Given the description of an element on the screen output the (x, y) to click on. 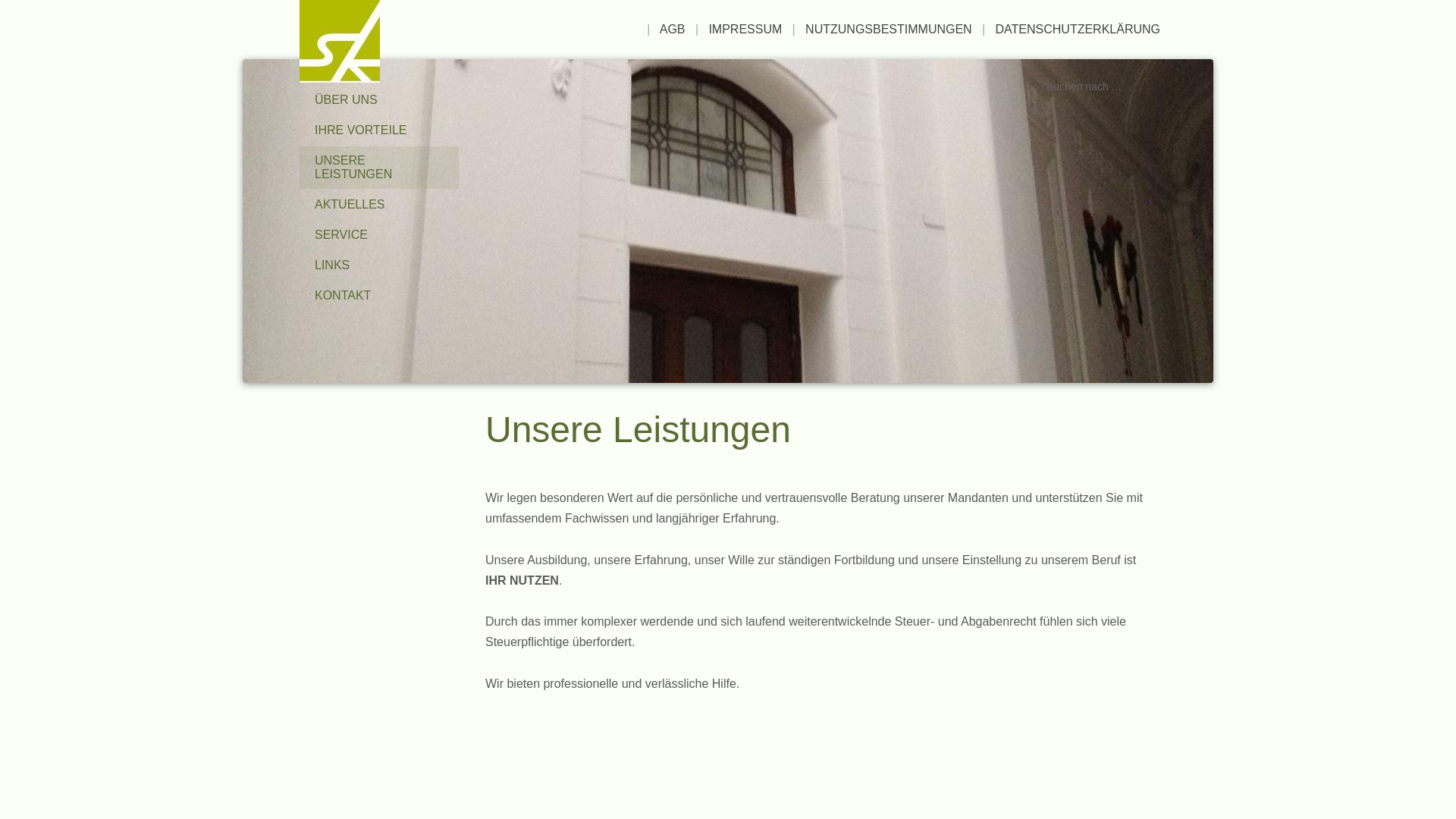
IMPRESSUM Element type: text (744, 28)
LINKS Element type: text (378, 265)
NUTZUNGSBESTIMMUNGEN Element type: text (888, 28)
IHRE VORTEILE Element type: text (378, 130)
KONTAKT Element type: text (378, 295)
SERVICE Element type: text (378, 234)
UNSERE LEISTUNGEN Element type: text (378, 167)
AKTUELLES Element type: text (378, 204)
AGB Element type: text (672, 28)
